Given the description of an element on the screen output the (x, y) to click on. 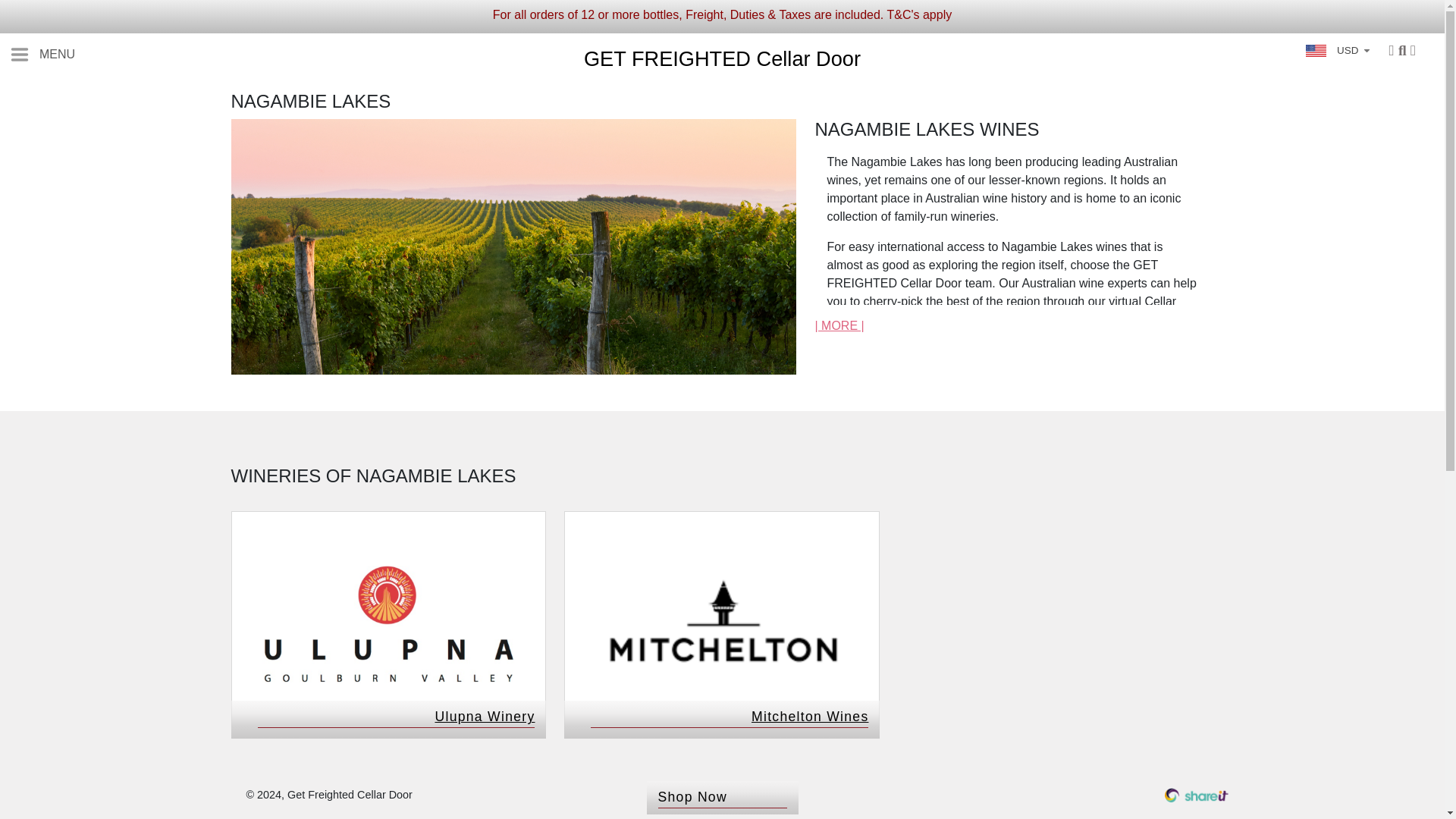
MENU (42, 54)
Ulupna Winery (388, 677)
Shop Now (721, 797)
Mitchelton Wines (721, 677)
GET FREIGHTED Cellar Door (721, 58)
